Given the description of an element on the screen output the (x, y) to click on. 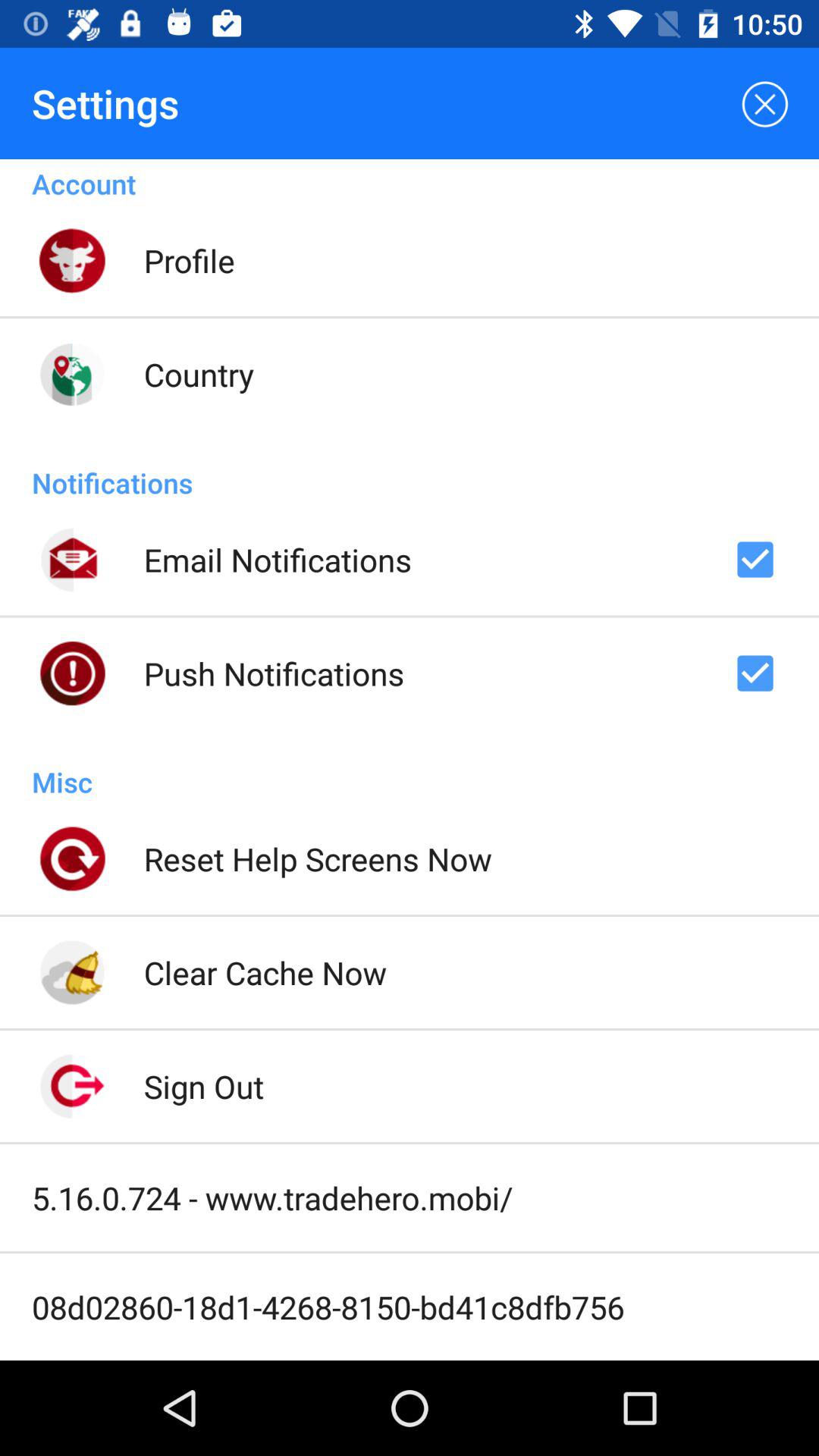
jump to 5 16 0 (272, 1197)
